Given the description of an element on the screen output the (x, y) to click on. 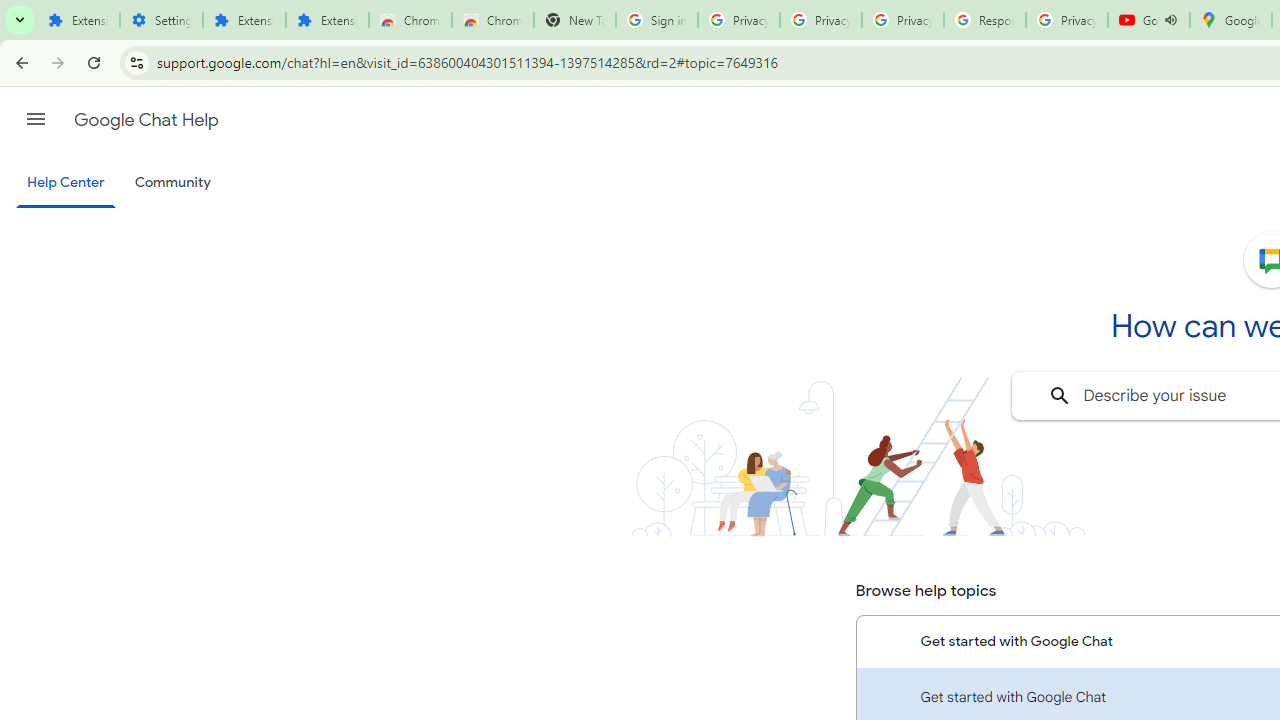
Chrome Web Store (409, 20)
Community (171, 183)
Extensions (326, 20)
Extensions (78, 20)
Sign in - Google Accounts (656, 20)
Chrome Web Store - Themes (492, 20)
